Given the description of an element on the screen output the (x, y) to click on. 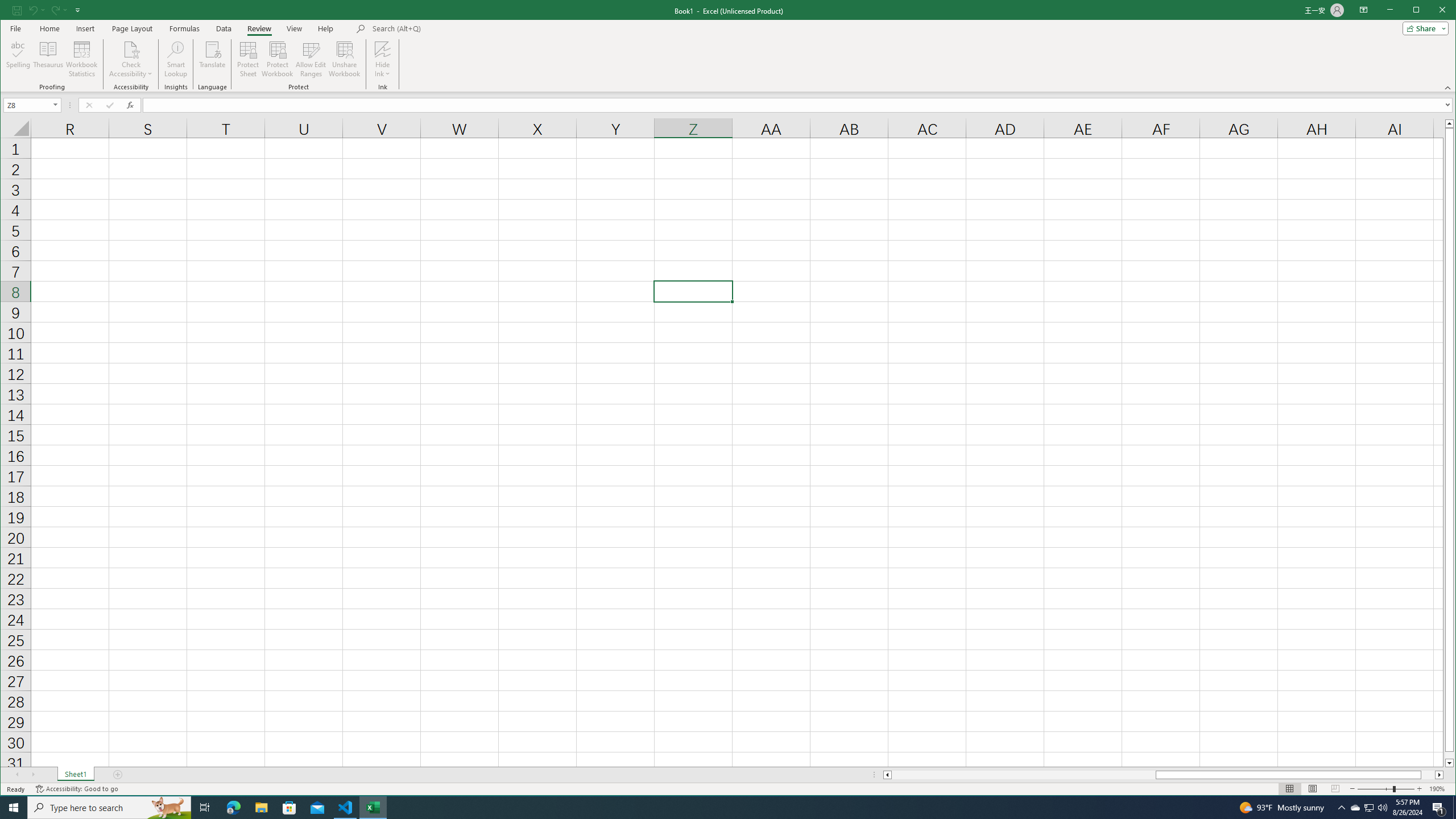
Protect Sheet... (247, 59)
Workbook Statistics (82, 59)
Unshare Workbook (1368, 807)
Type here to search (344, 59)
Protect Workbook... (108, 807)
Search highlights icon opens search home window (277, 59)
